Given the description of an element on the screen output the (x, y) to click on. 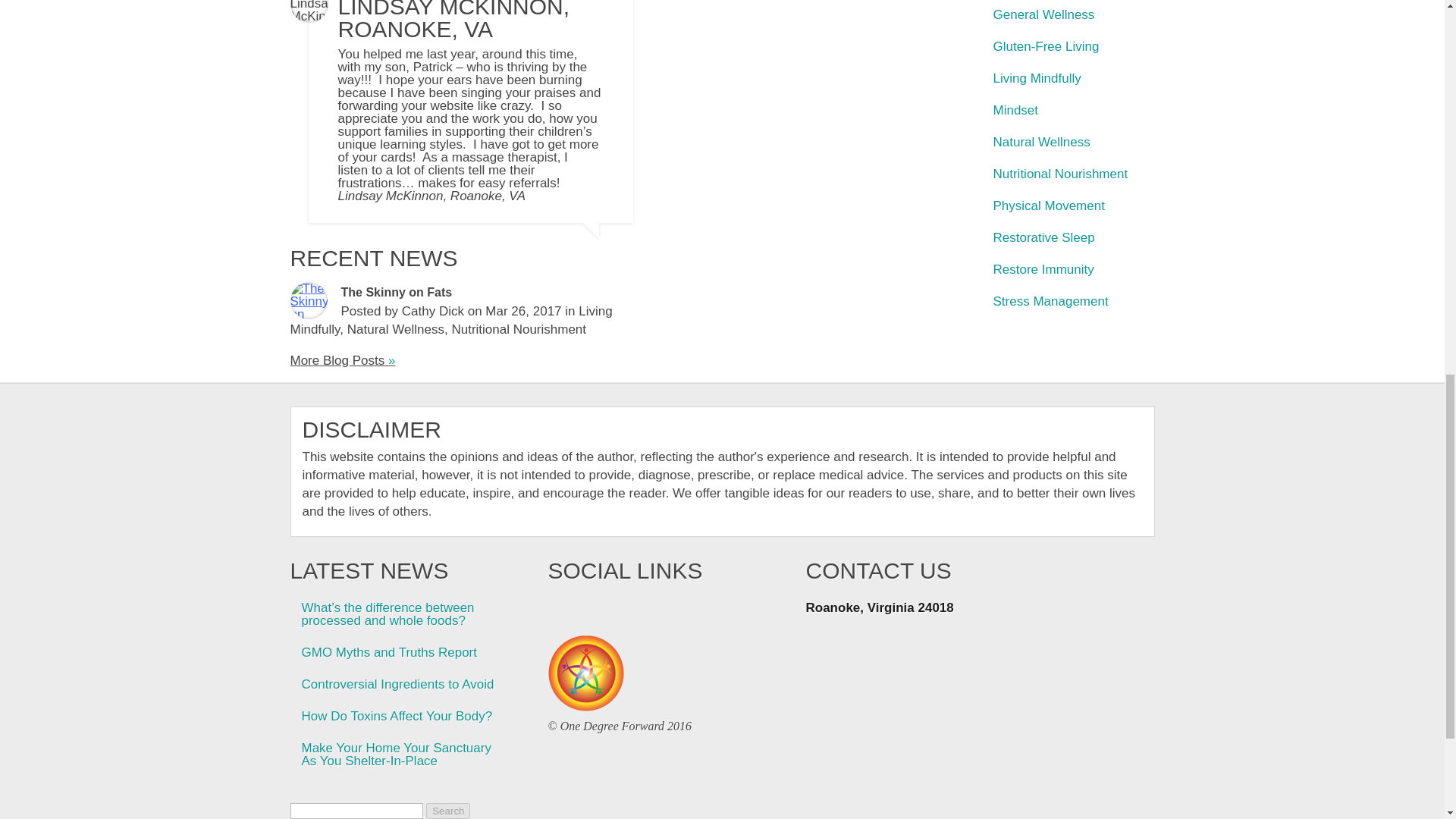
Search (448, 811)
Nutritional Nourishment (518, 329)
Cathy Dick (432, 310)
The Skinny on Fats (396, 291)
Natural Wellness (395, 329)
Living Mindfully (450, 319)
